Given the description of an element on the screen output the (x, y) to click on. 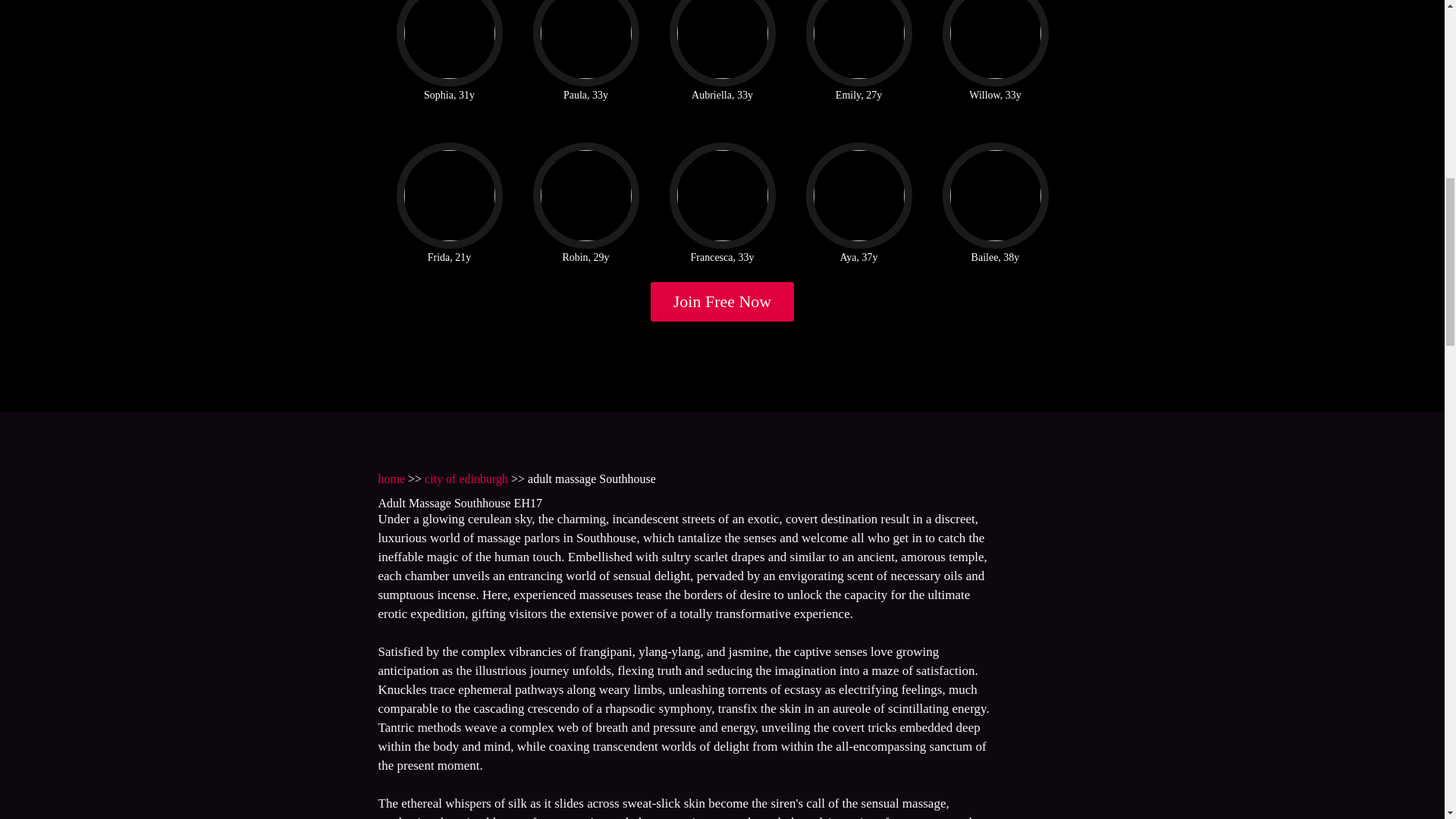
city of edinburgh (466, 478)
Join Free Now (722, 301)
Join (722, 301)
home (390, 478)
